Given the description of an element on the screen output the (x, y) to click on. 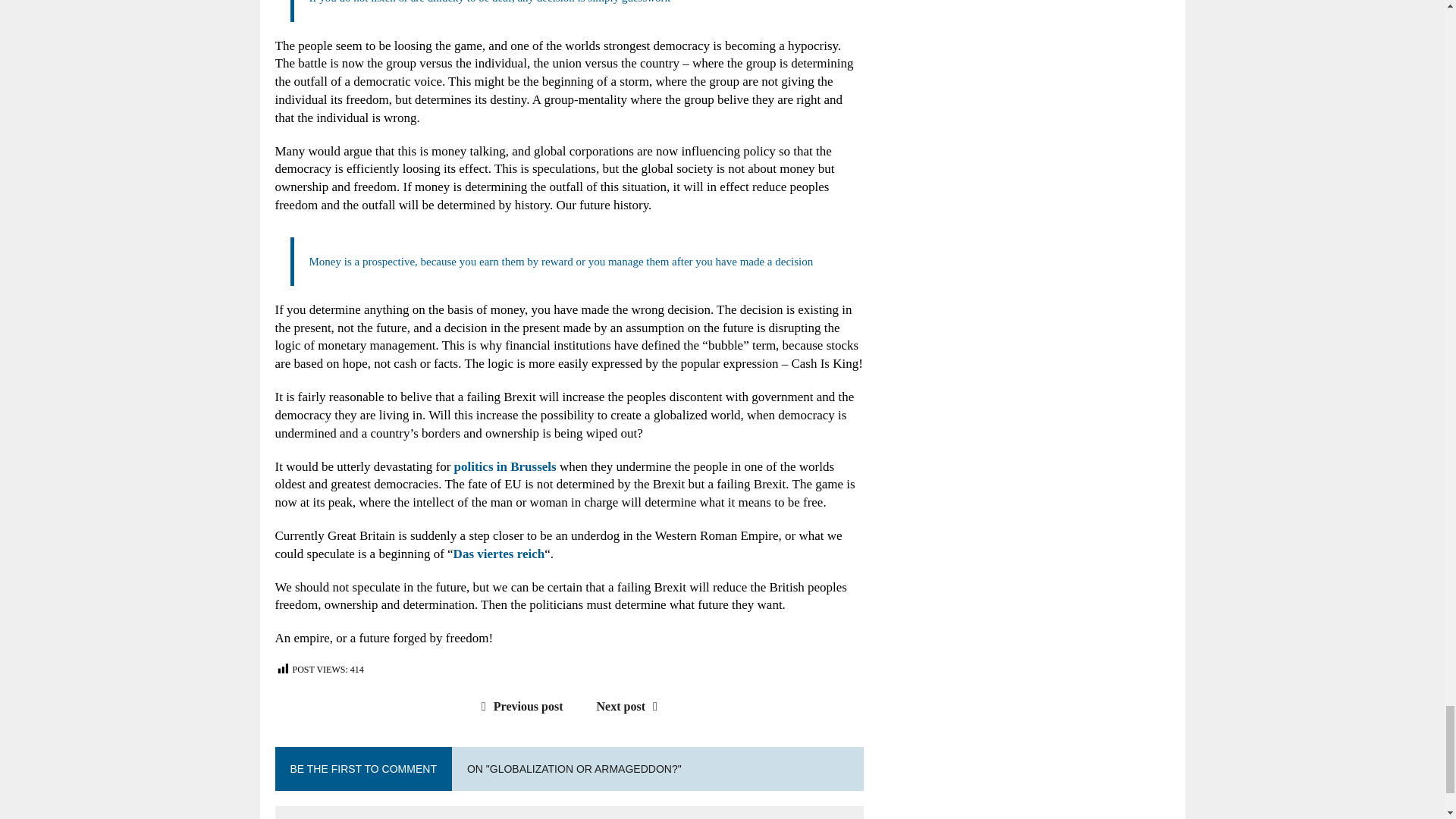
politics in Brussels (505, 466)
Das viertes reich (498, 554)
Next post (630, 706)
Previous post (518, 706)
